Given the description of an element on the screen output the (x, y) to click on. 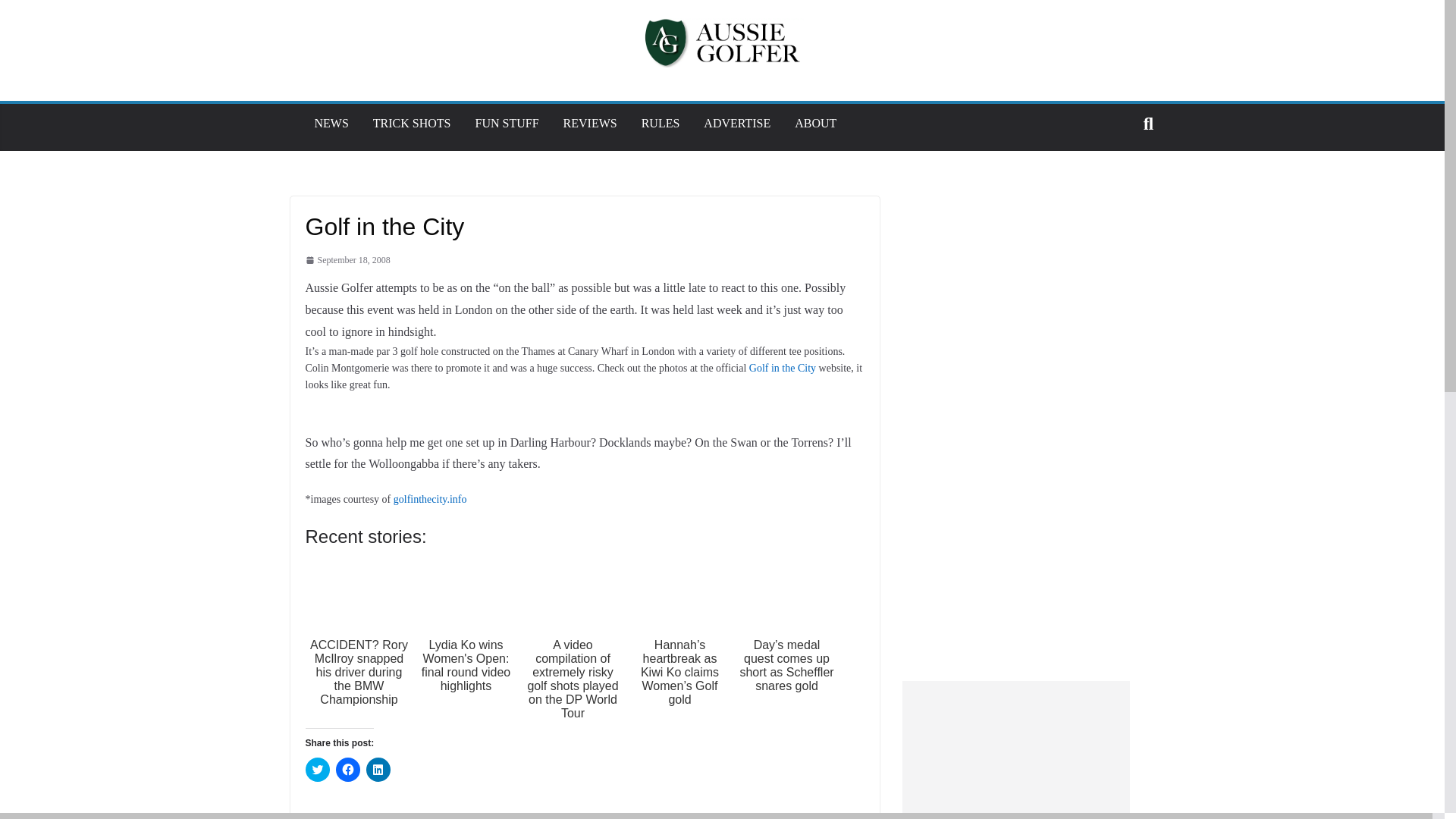
September 18, 2008 (347, 260)
TRICK SHOTS (411, 123)
FUN STUFF (507, 123)
Click to share on Twitter (316, 769)
Click to share on LinkedIn (377, 769)
21:36 (347, 260)
NEWS (330, 123)
Golf in the City (782, 367)
REVIEWS (590, 123)
Click to share on Facebook (346, 769)
